Given the description of an element on the screen output the (x, y) to click on. 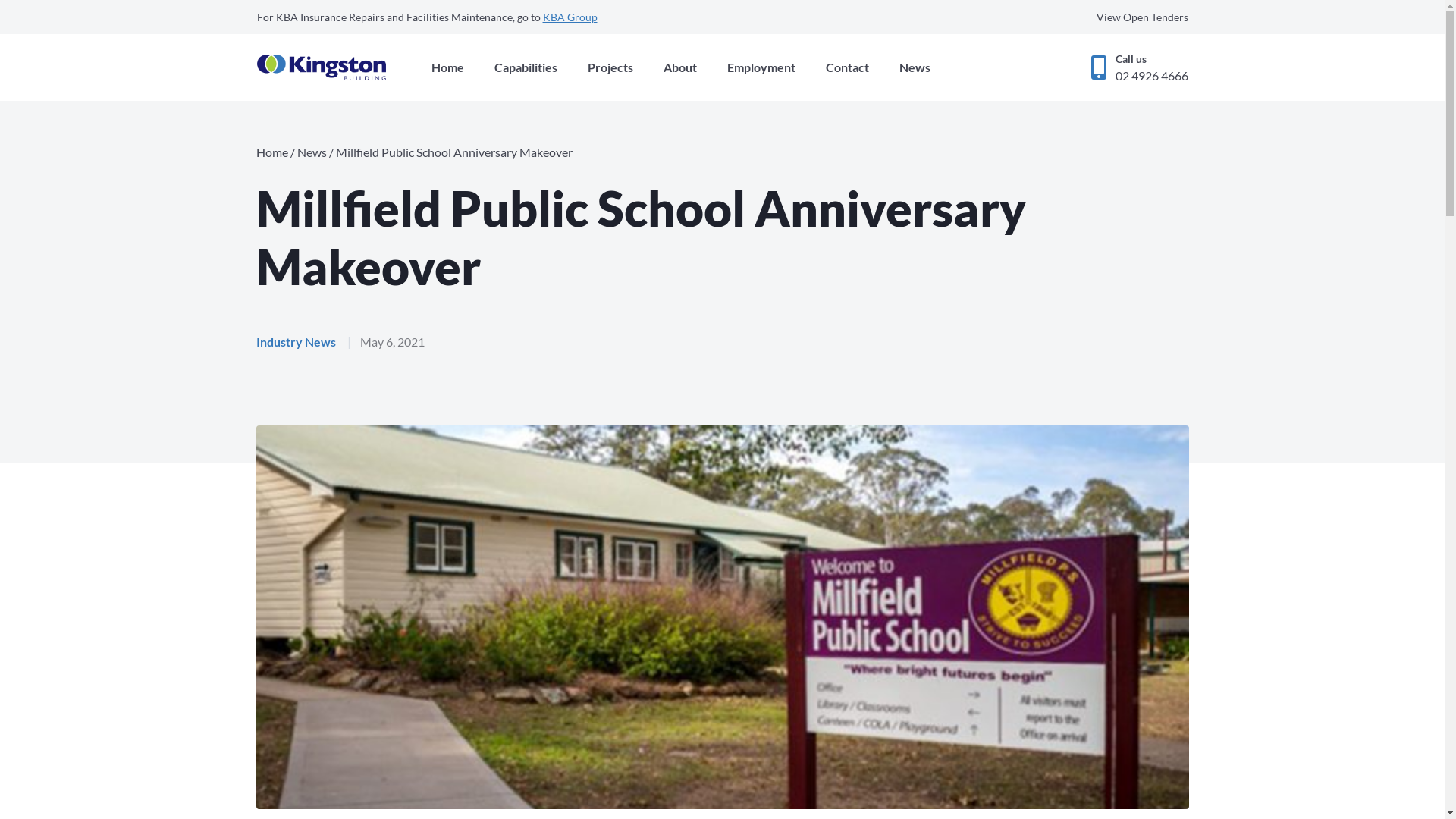
View Open Tenders Element type: text (1142, 17)
News Element type: text (311, 151)
Employment Element type: text (760, 67)
Projects Element type: text (609, 67)
Home Element type: text (272, 151)
May 6, 2021 Element type: text (391, 341)
News Element type: text (914, 67)
KBA Group Element type: text (569, 16)
Call us
02 4926 4666 Element type: text (1138, 67)
About Element type: text (679, 67)
Capabilities Element type: text (525, 67)
For KBA Insurance Repairs and Facilities Maintenance, go to  Element type: text (399, 17)
Contact Element type: text (846, 67)
Home Element type: text (446, 67)
